Given the description of an element on the screen output the (x, y) to click on. 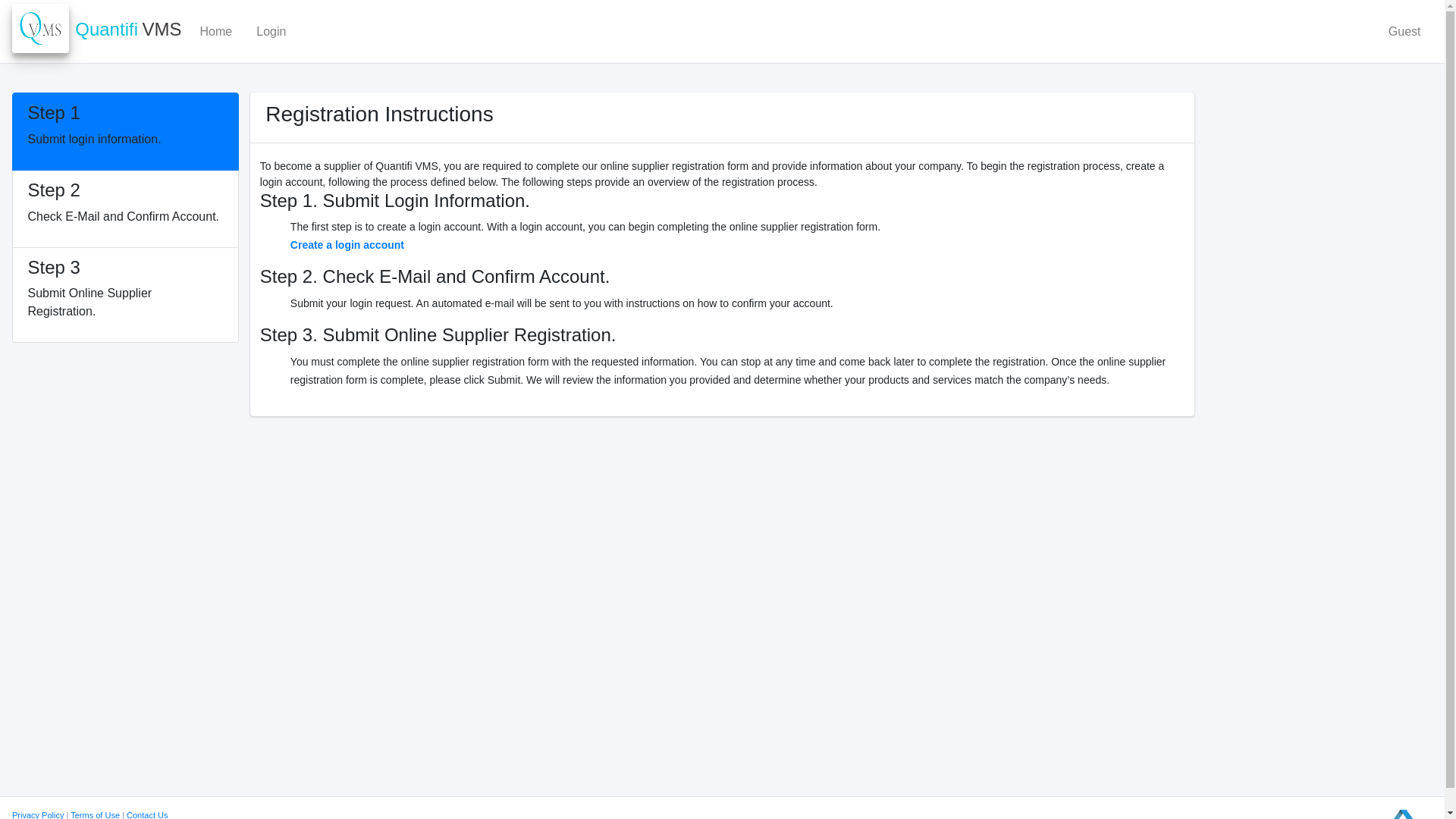
Home (215, 31)
Privacy Policy (37, 814)
Login (271, 31)
Terms of Use (94, 814)
Create a login account (346, 244)
Contact Us (146, 814)
Privacy Policy (37, 814)
Quantifi VMS (96, 30)
Terms of Use (125, 131)
Guest (94, 814)
